Given the description of an element on the screen output the (x, y) to click on. 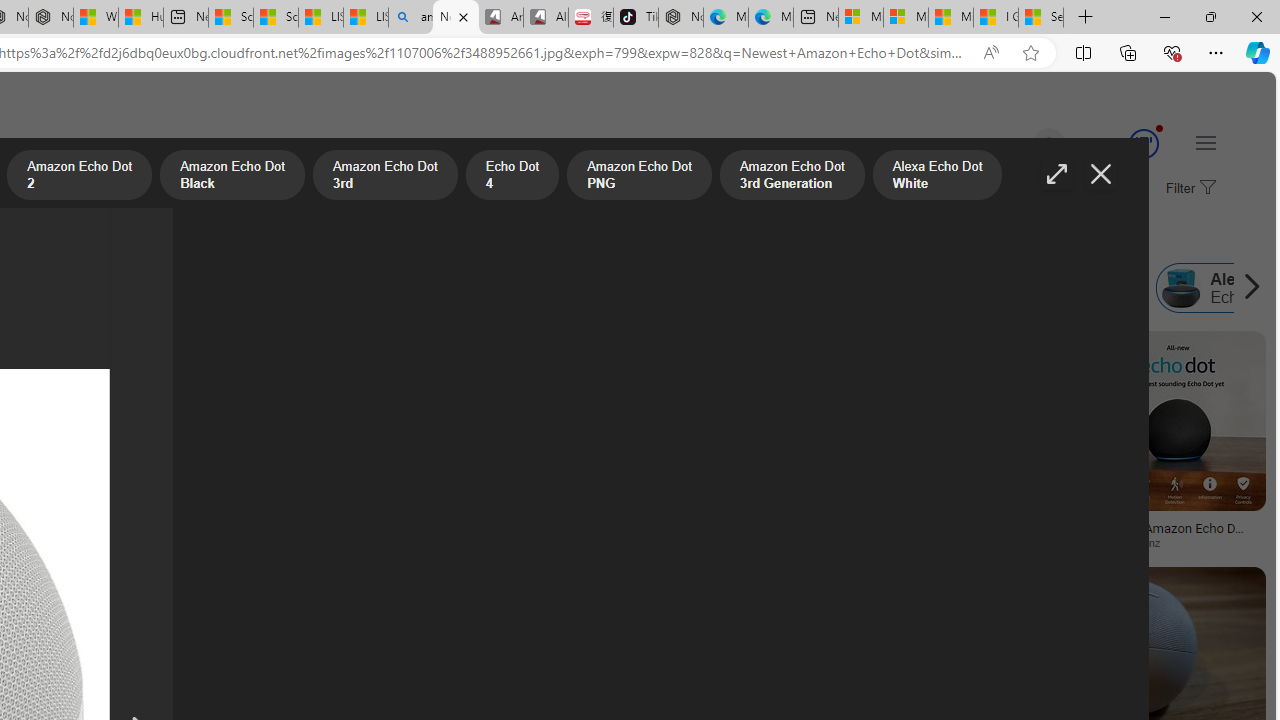
Microsoft Rewards 144 (1119, 143)
Scroll right (1246, 287)
Class: outer-circle-animation (1143, 143)
Class: item col (1055, 287)
Review: Amazon Echo / Echo Dot with clock (4th gen) - techAU (948, 534)
B&H Photo Video (477, 542)
techAU (858, 541)
